Given the description of an element on the screen output the (x, y) to click on. 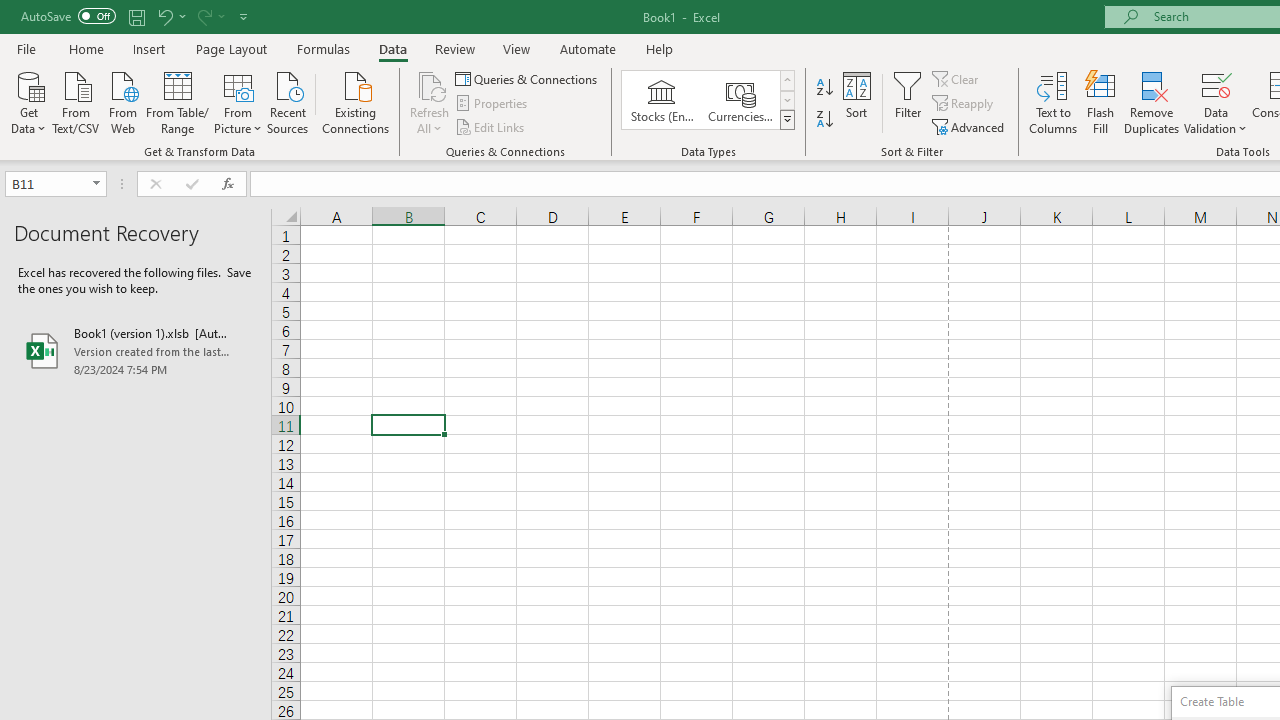
Flash Fill (1101, 102)
Sort Z to A (824, 119)
Book1 (version 1).xlsb  [AutoRecovered] (136, 350)
From Text/CSV (75, 101)
Sort A to Z (824, 87)
Remove Duplicates (1151, 102)
Data Types (786, 120)
From Picture (238, 101)
